Given the description of an element on the screen output the (x, y) to click on. 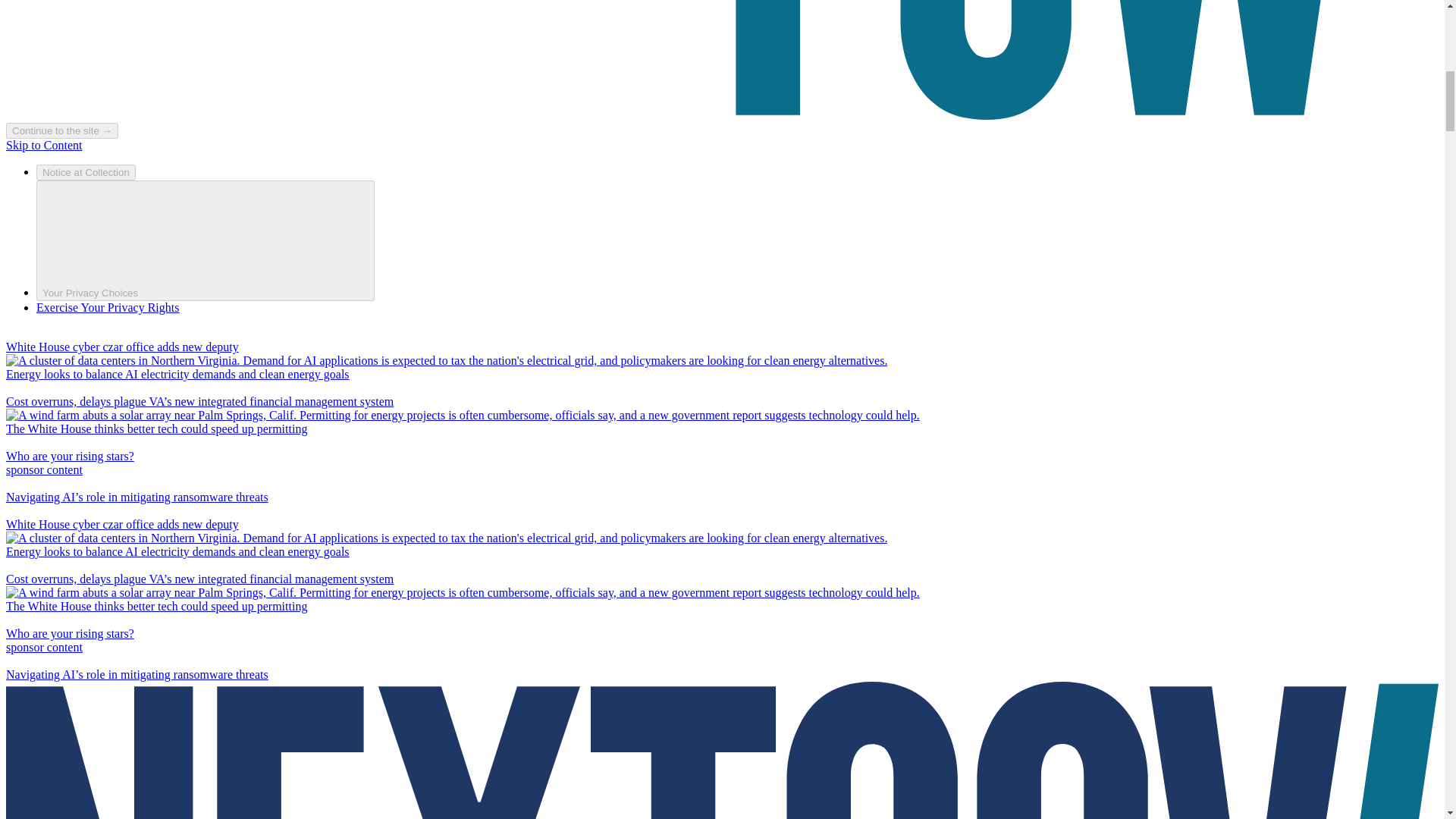
Exercise Your Privacy Rights (107, 307)
Skip to Content (43, 144)
Your Privacy Choices (205, 240)
Notice at Collection (85, 172)
